Given the description of an element on the screen output the (x, y) to click on. 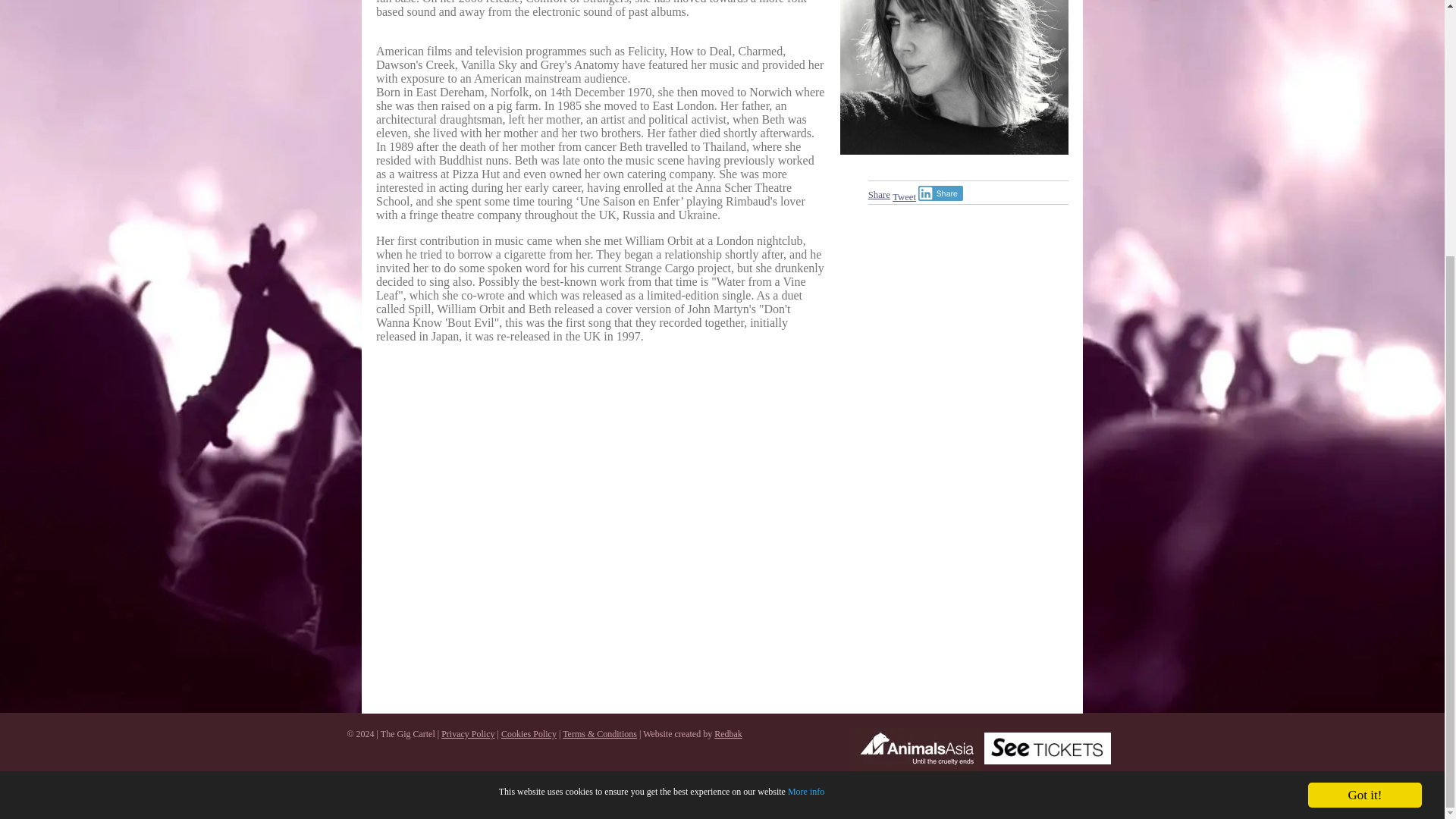
Privacy Policy (468, 733)
Tweet (903, 196)
Advertisement (600, 528)
Cookies Policy (528, 733)
Share (940, 192)
Share (878, 194)
